Given the description of an element on the screen output the (x, y) to click on. 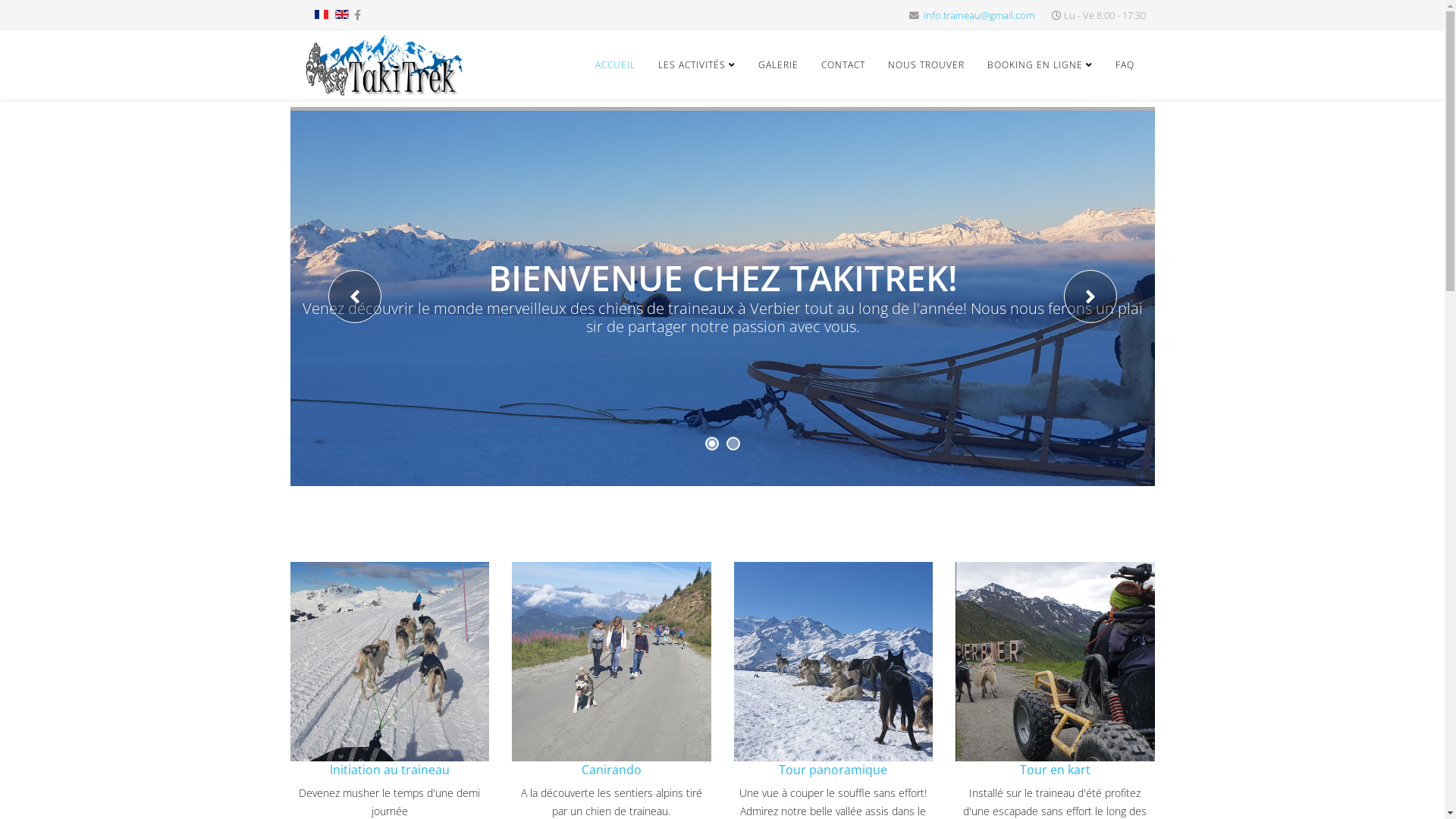
FAQ Element type: text (1124, 65)
info.traineau@gmail.com Element type: text (978, 15)
BOOKING EN LIGNE Element type: text (1039, 65)
GALERIE Element type: text (777, 65)
Initiation au traineau Element type: text (389, 769)
Tour panoramique Element type: text (832, 769)
CONTACT Element type: text (842, 65)
Canirando Element type: text (611, 769)
NOUS TROUVER Element type: text (925, 65)
ACCUEIL Element type: text (614, 65)
English (UK) Element type: hover (341, 13)
Tour en kart Element type: text (1054, 769)
